Given the description of an element on the screen output the (x, y) to click on. 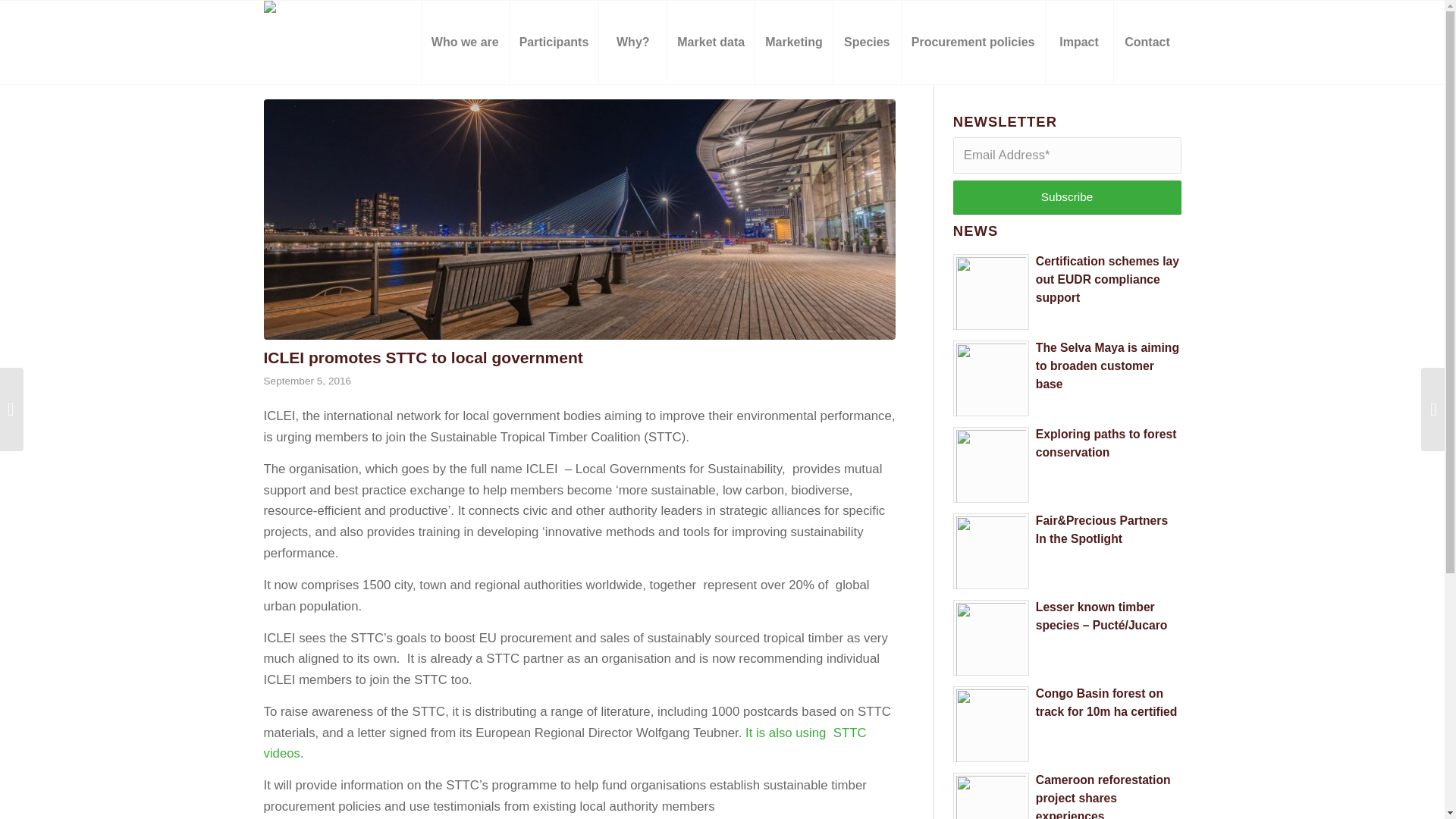
Read: Certification schemes lay out EUDR compliance support (991, 291)
Exploring paths to forest conservation (1105, 442)
Read: Exploring paths to forest conservation (1105, 442)
Read: Certification schemes lay out EUDR compliance support (1107, 279)
Certification schemes lay out EUDR compliance support (1107, 279)
Read: Exploring paths to forest conservation (991, 464)
The Selva Maya is aiming to broaden customer base (1107, 366)
Cameroon reforestation project shares experiences (1102, 796)
Participants (553, 42)
Market data (710, 42)
Who we are (464, 42)
Marketing (793, 42)
Read: The Selva Maya is aiming to broaden customer base (991, 378)
Congo Basin forest on track for 10m ha certified (1106, 702)
Subscribe (1066, 197)
